Given the description of an element on the screen output the (x, y) to click on. 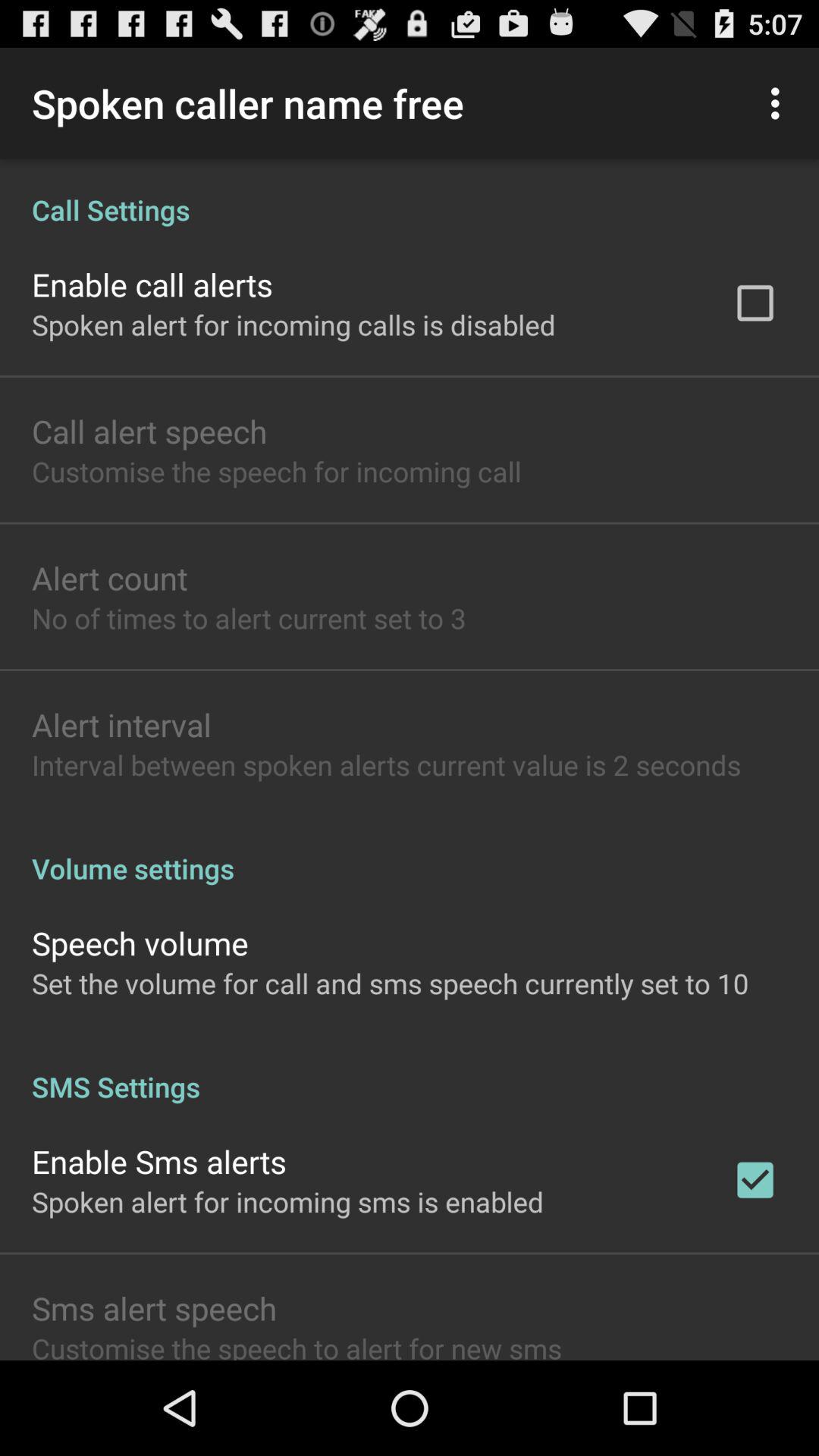
scroll to the volume settings icon (409, 852)
